Given the description of an element on the screen output the (x, y) to click on. 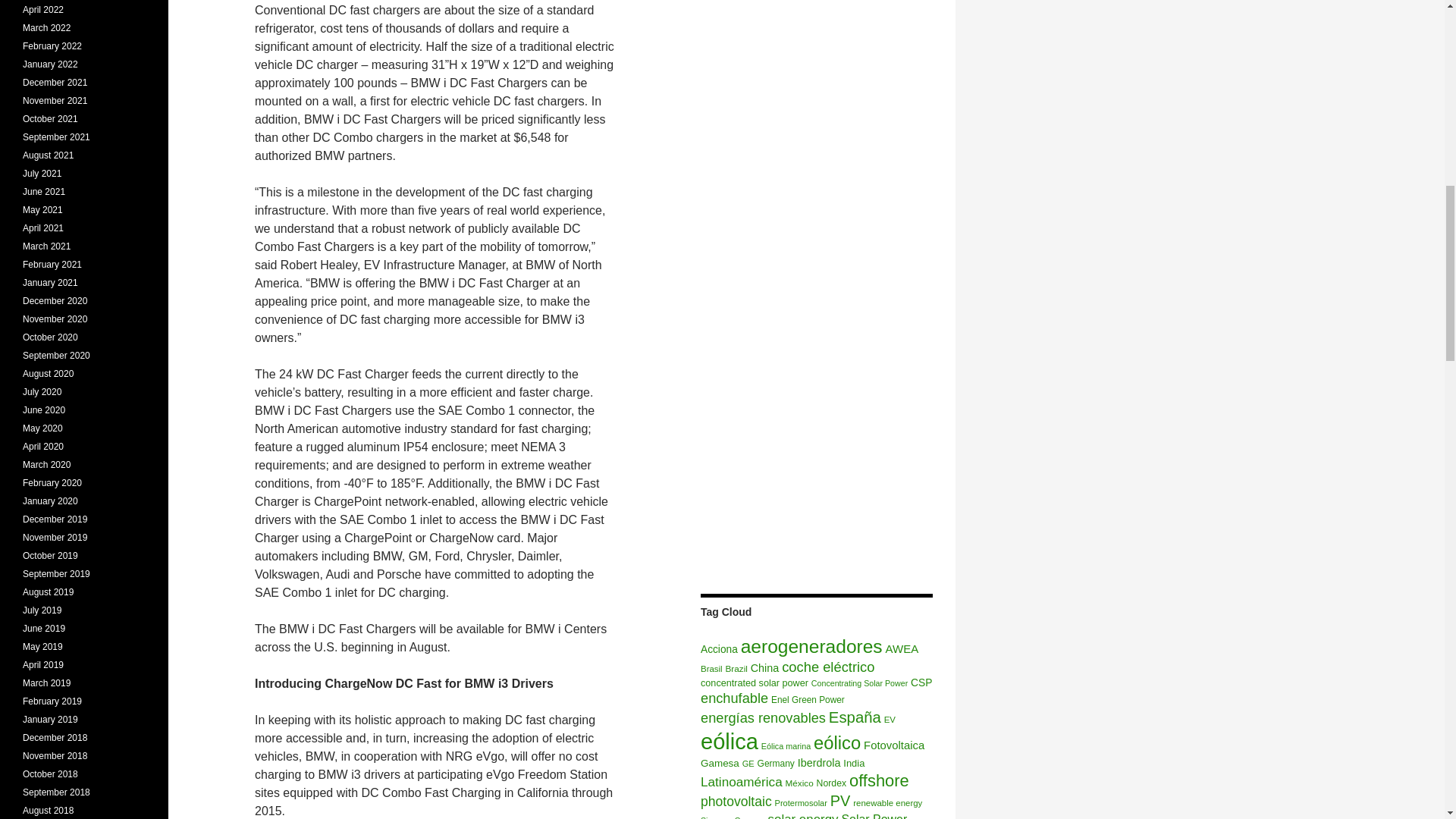
aerogeneradores (811, 646)
China (764, 667)
Enel Green Power (807, 699)
AWEA (901, 648)
Concentrating Solar Power (858, 682)
concentrated solar power (754, 683)
enchufable (734, 698)
Brasil (711, 668)
Brazil (736, 668)
Acciona (719, 649)
CSP (921, 682)
